Given the description of an element on the screen output the (x, y) to click on. 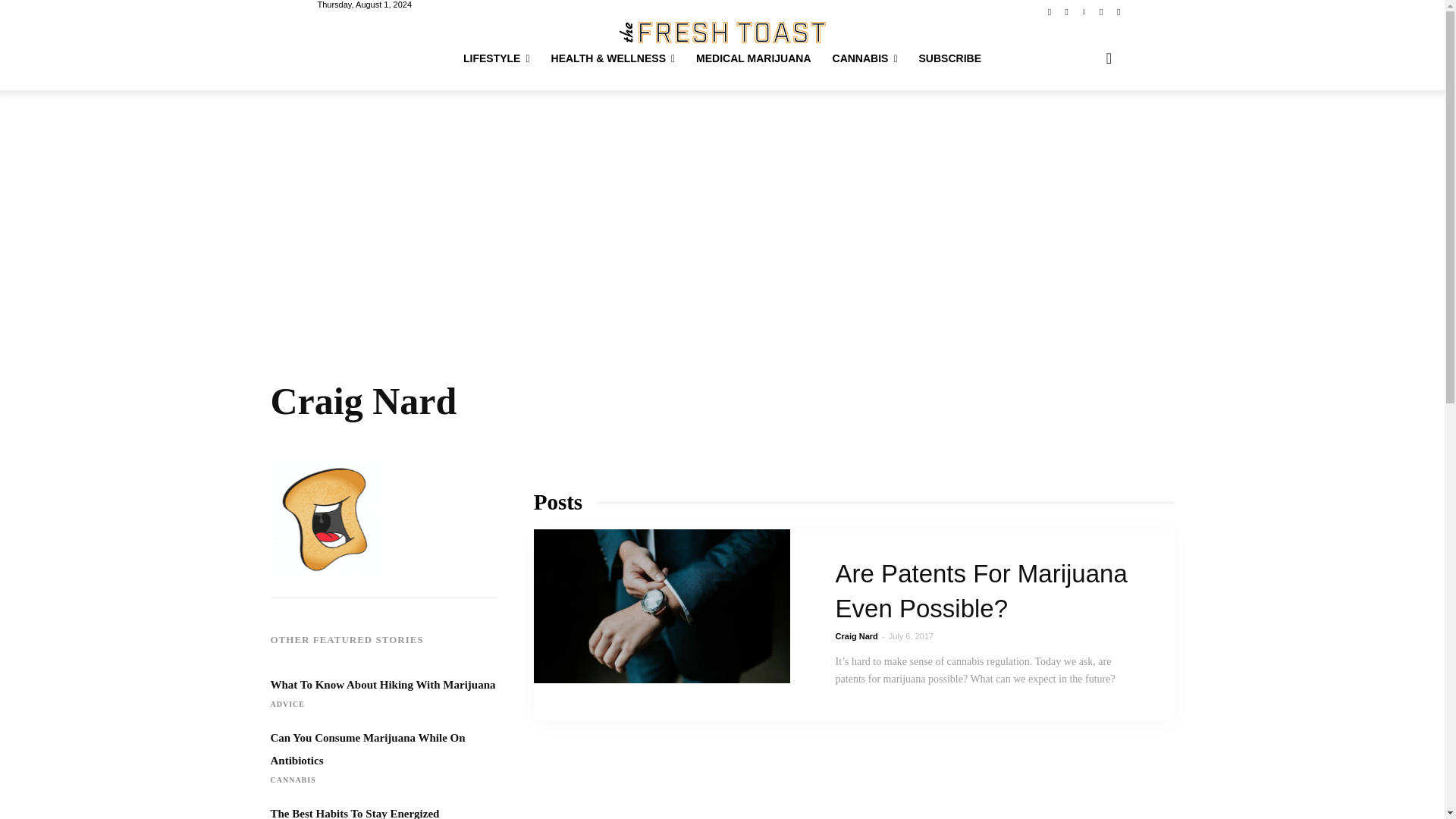
LIFESTYLE (496, 58)
